Given the description of an element on the screen output the (x, y) to click on. 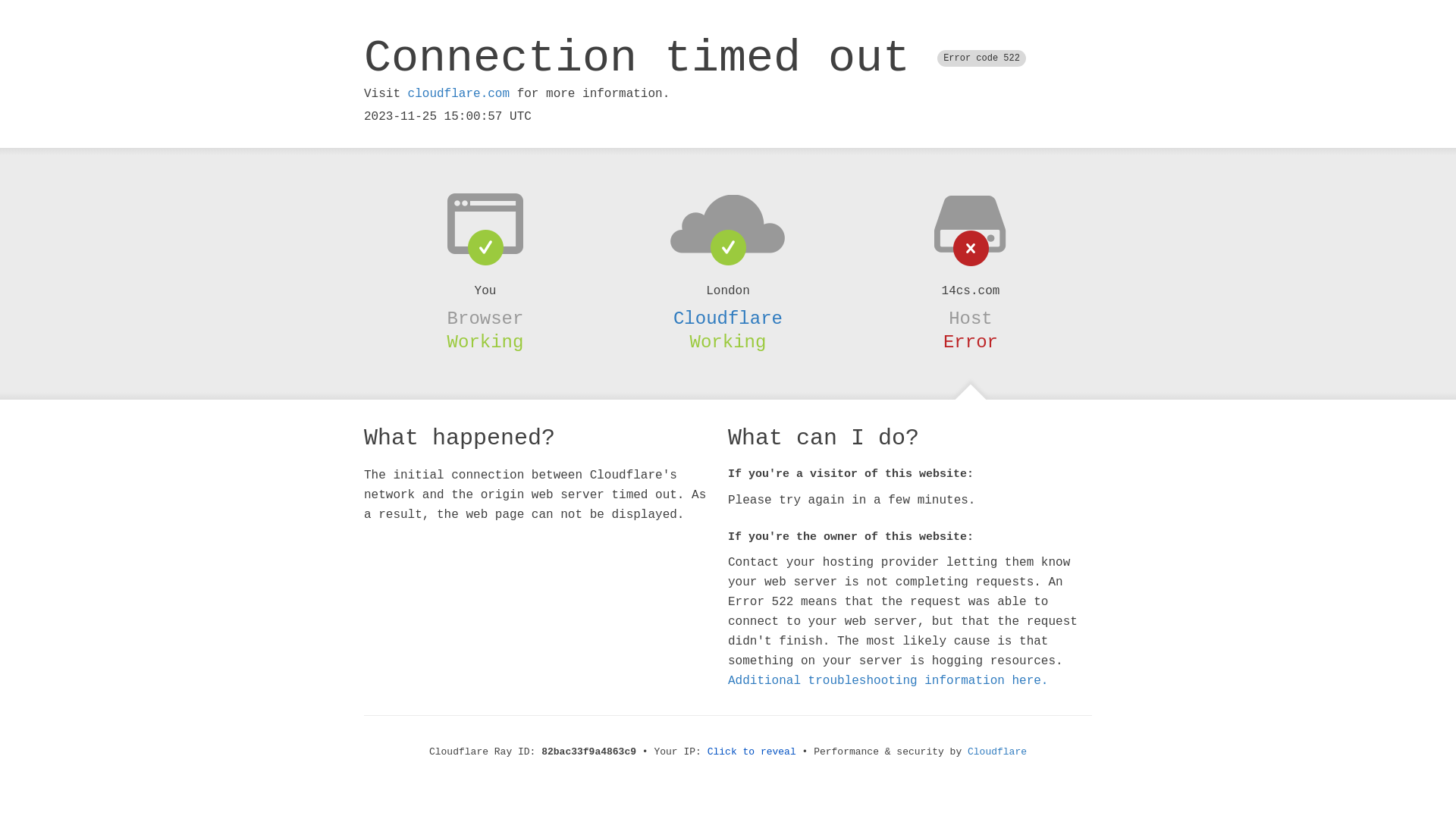
Click to reveal Element type: text (751, 751)
cloudflare.com Element type: text (458, 93)
Additional troubleshooting information here. Element type: text (888, 680)
Cloudflare Element type: text (996, 751)
Cloudflare Element type: text (727, 318)
